Given the description of an element on the screen output the (x, y) to click on. 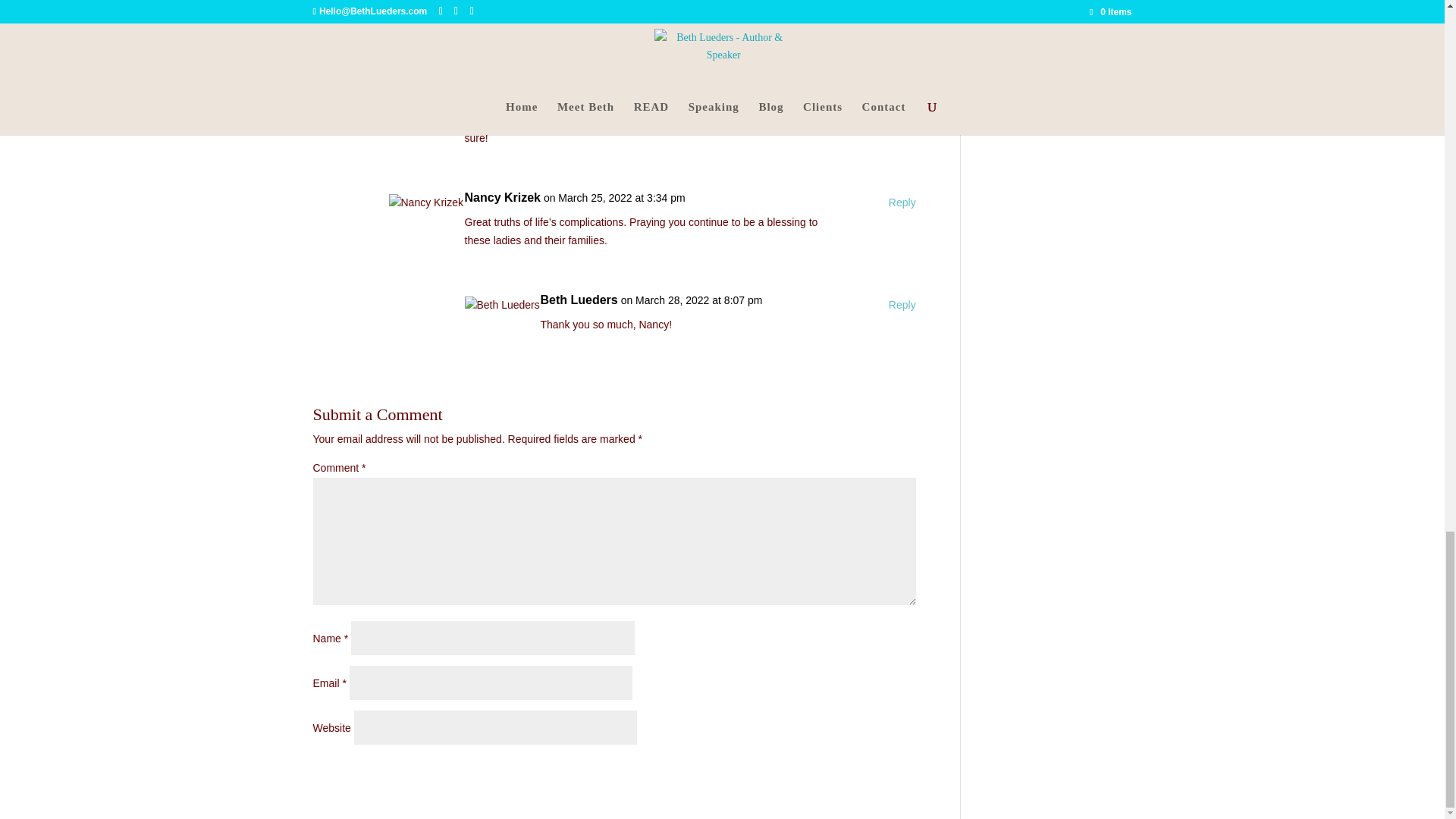
Reply (901, 3)
Reply (901, 305)
Nancy Brummett (436, 1)
Reply (901, 203)
Reply (901, 100)
